Given the description of an element on the screen output the (x, y) to click on. 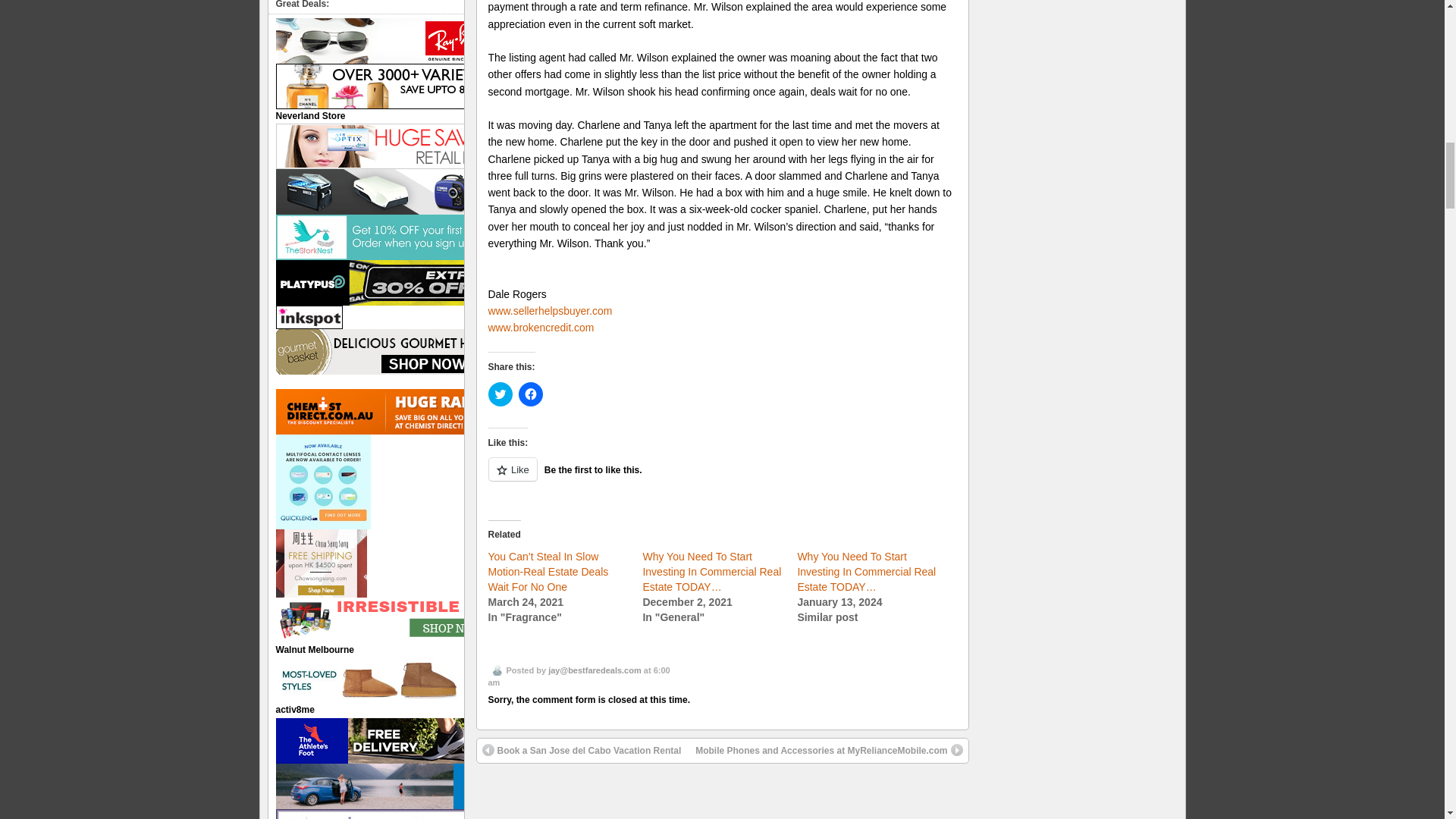
www.sellerhelpsbuyer.com (549, 310)
  Book a San Jose del Cabo Vacation Rental (581, 750)
Click to share on Facebook (530, 394)
  Mobile Phones and Accessories at MyRelianceMobile.com (828, 750)
www.brokencredit.com (540, 327)
Like or Reblog (721, 477)
Click to share on Twitter (499, 394)
